Given the description of an element on the screen output the (x, y) to click on. 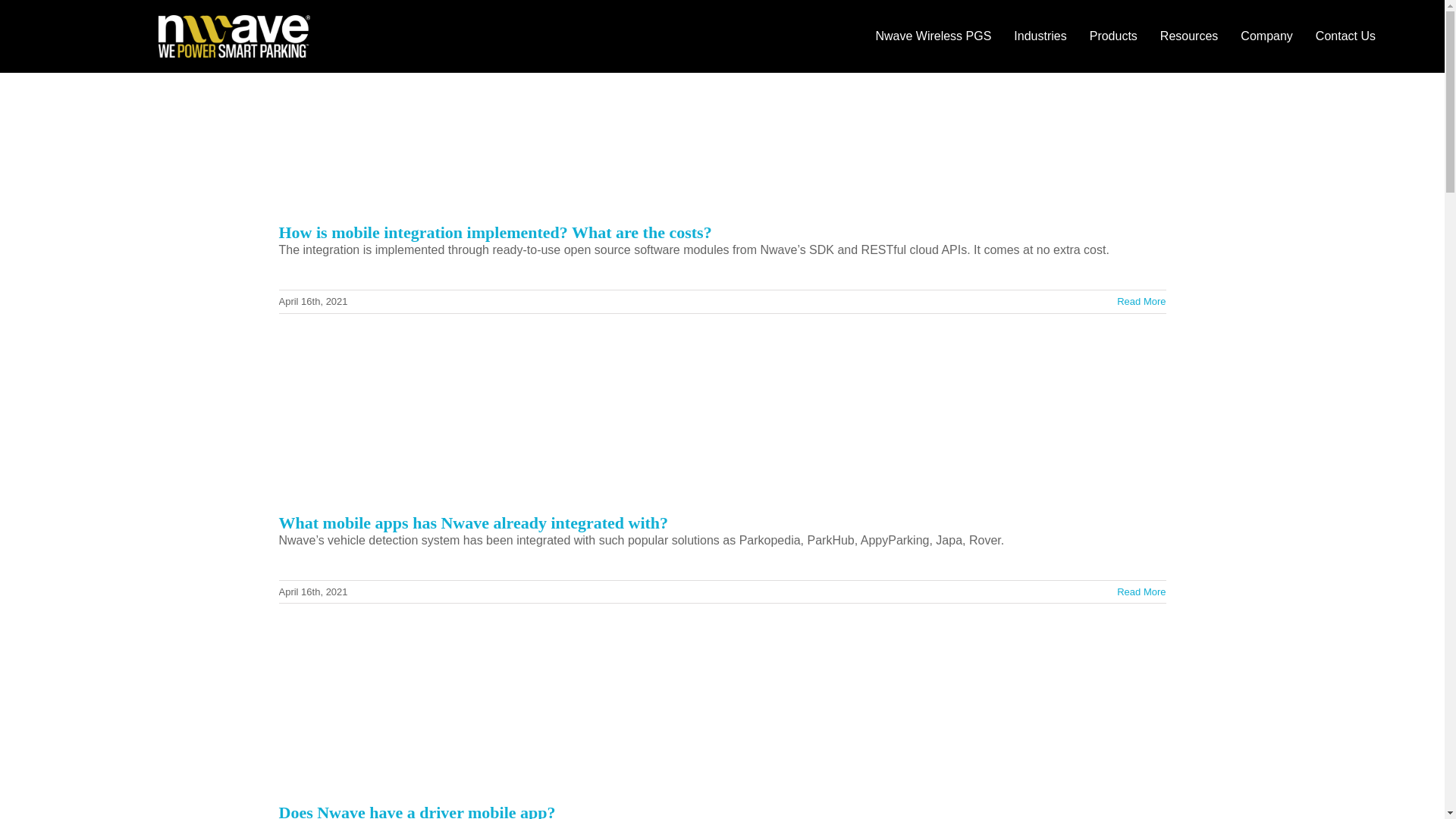
Nwave Wireless PGS (933, 36)
FAQs 1 (234, 36)
Company (1265, 36)
Contact Us (1345, 36)
Products (1113, 36)
Industries (1040, 36)
Resources (1188, 36)
